Given the description of an element on the screen output the (x, y) to click on. 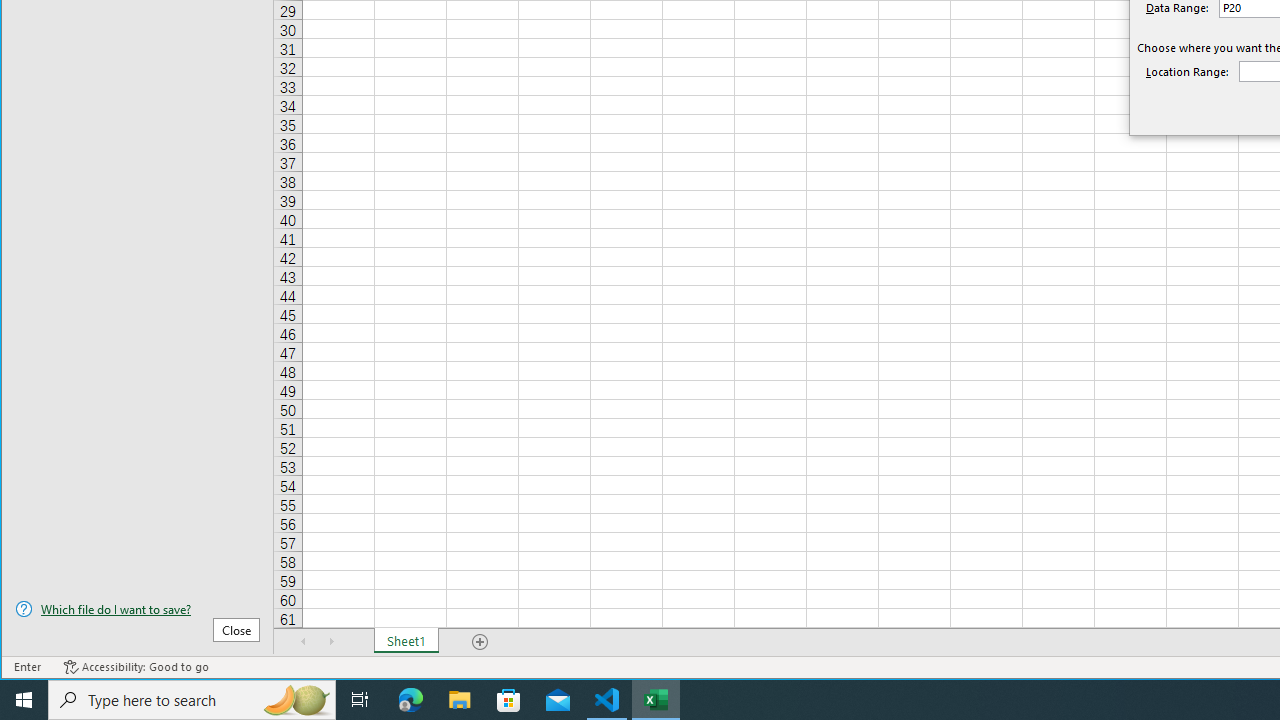
Which file do I want to save? (137, 609)
Scroll Left (303, 641)
Add Sheet (481, 641)
Accessibility Checker Accessibility: Good to go (136, 667)
Scroll Right (331, 641)
Sheet1 (406, 641)
